Given the description of an element on the screen output the (x, y) to click on. 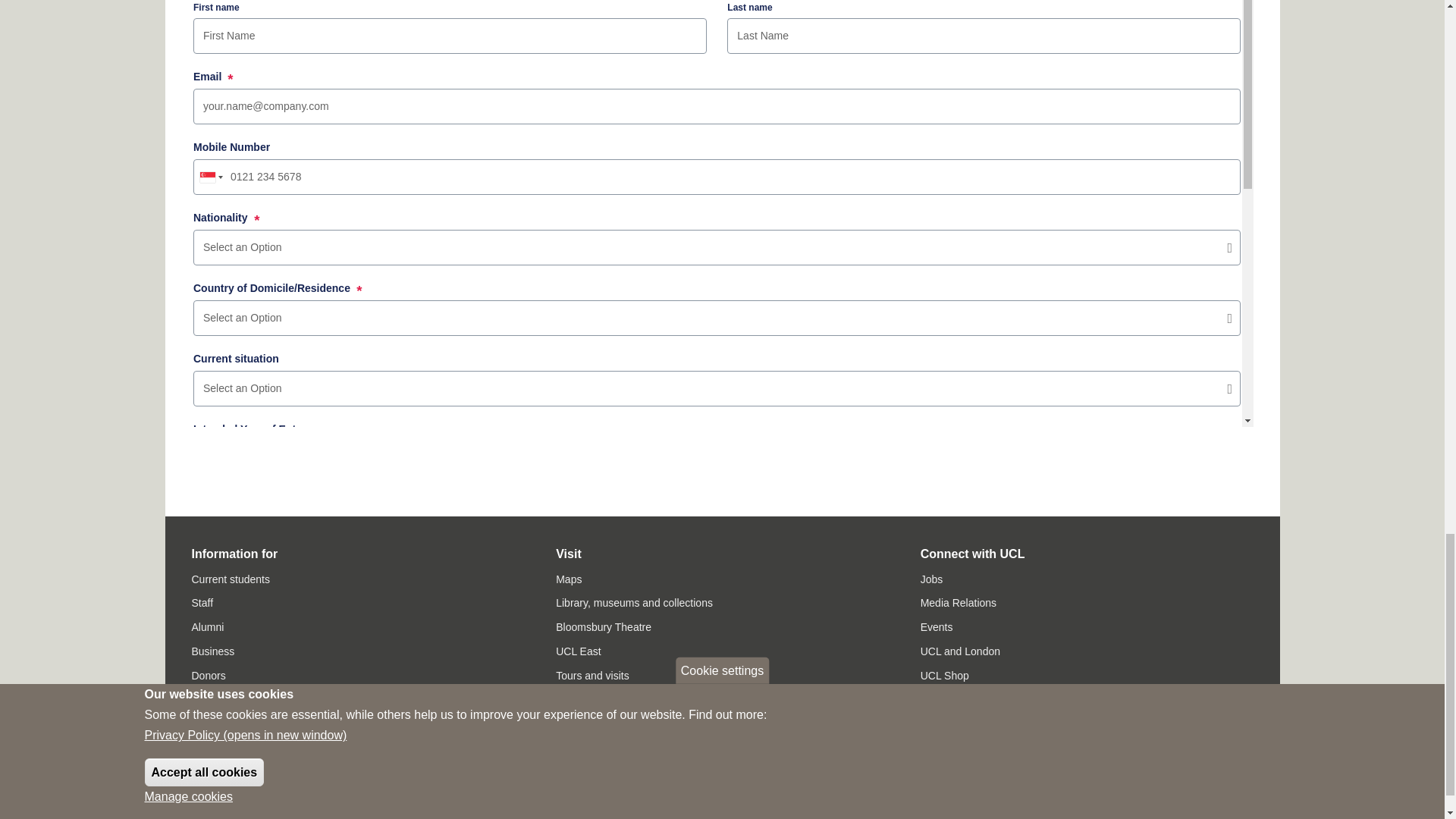
Bloomsbury Theatre (603, 626)
Library, museums and collections (634, 603)
Alumni (207, 626)
UCL East (577, 651)
Jobs (931, 579)
Maps (568, 579)
Tours and visits (592, 675)
Current students (229, 579)
Donors (207, 675)
Media Relations (957, 603)
Staff (201, 603)
Business (212, 651)
